Given the description of an element on the screen output the (x, y) to click on. 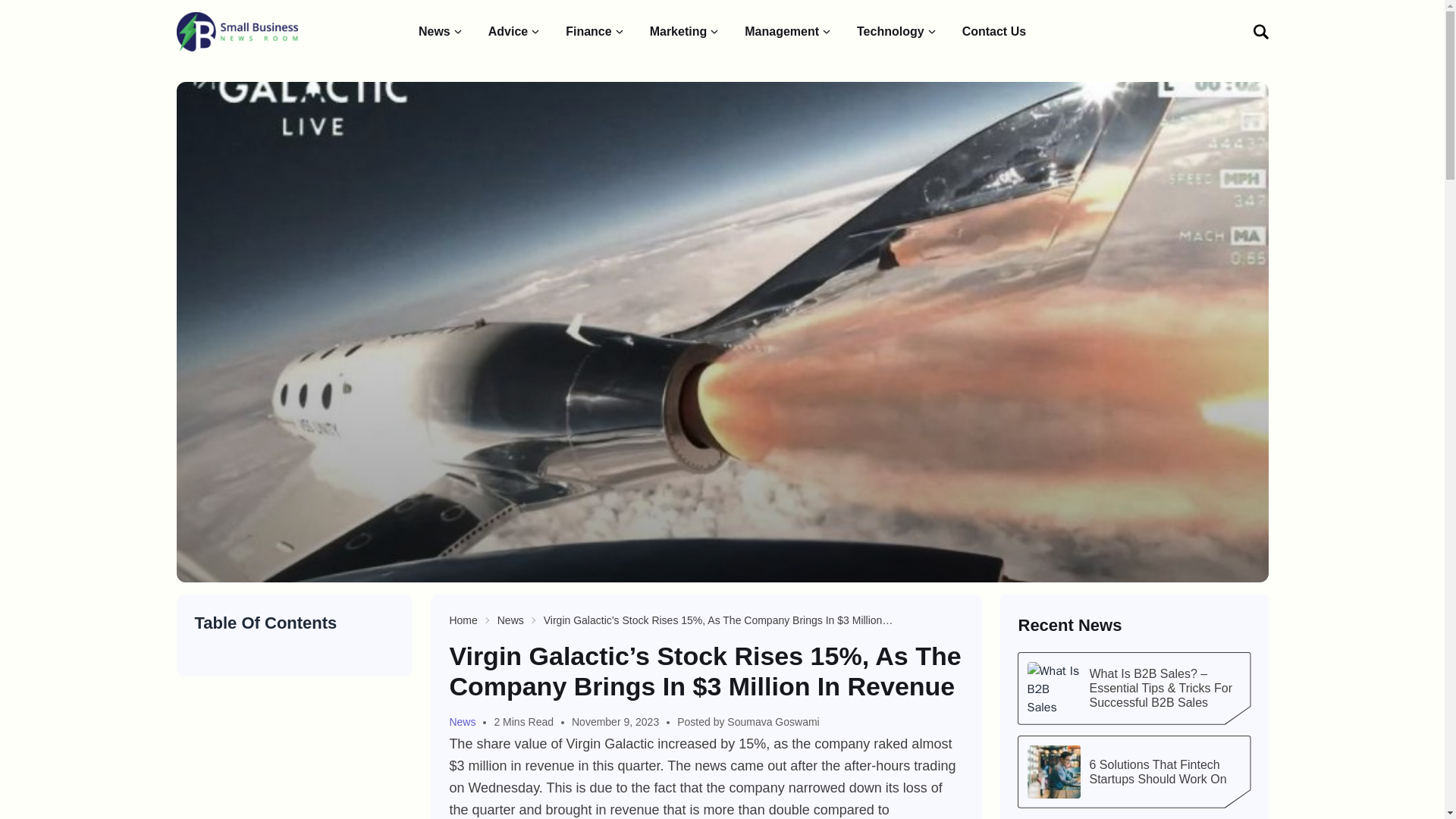
Finance (595, 31)
News (467, 722)
News (510, 620)
Management (788, 31)
Contact Us (994, 31)
Subscribe (1195, 227)
Technology (897, 31)
News (441, 31)
Advice (514, 31)
Marketing (684, 31)
